Given the description of an element on the screen output the (x, y) to click on. 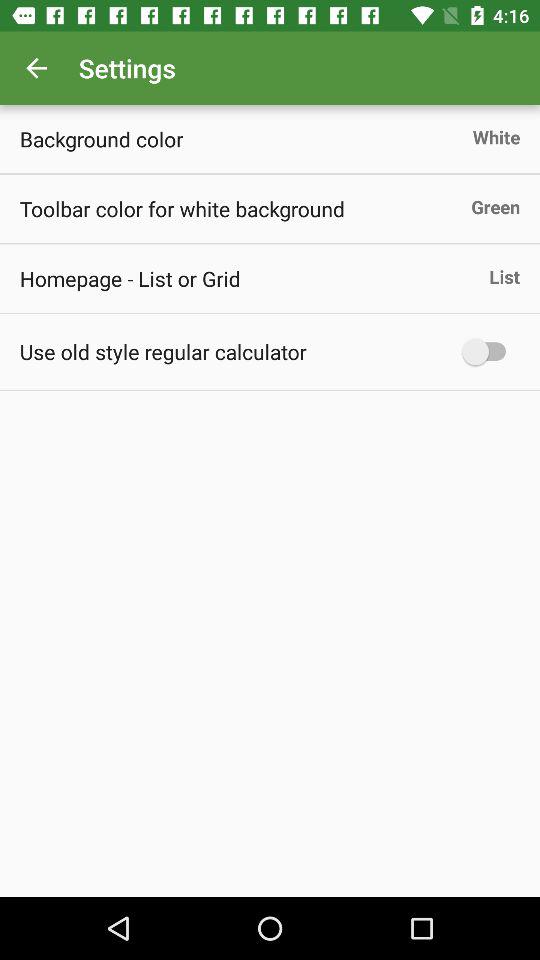
open item to the left of settings icon (36, 68)
